Given the description of an element on the screen output the (x, y) to click on. 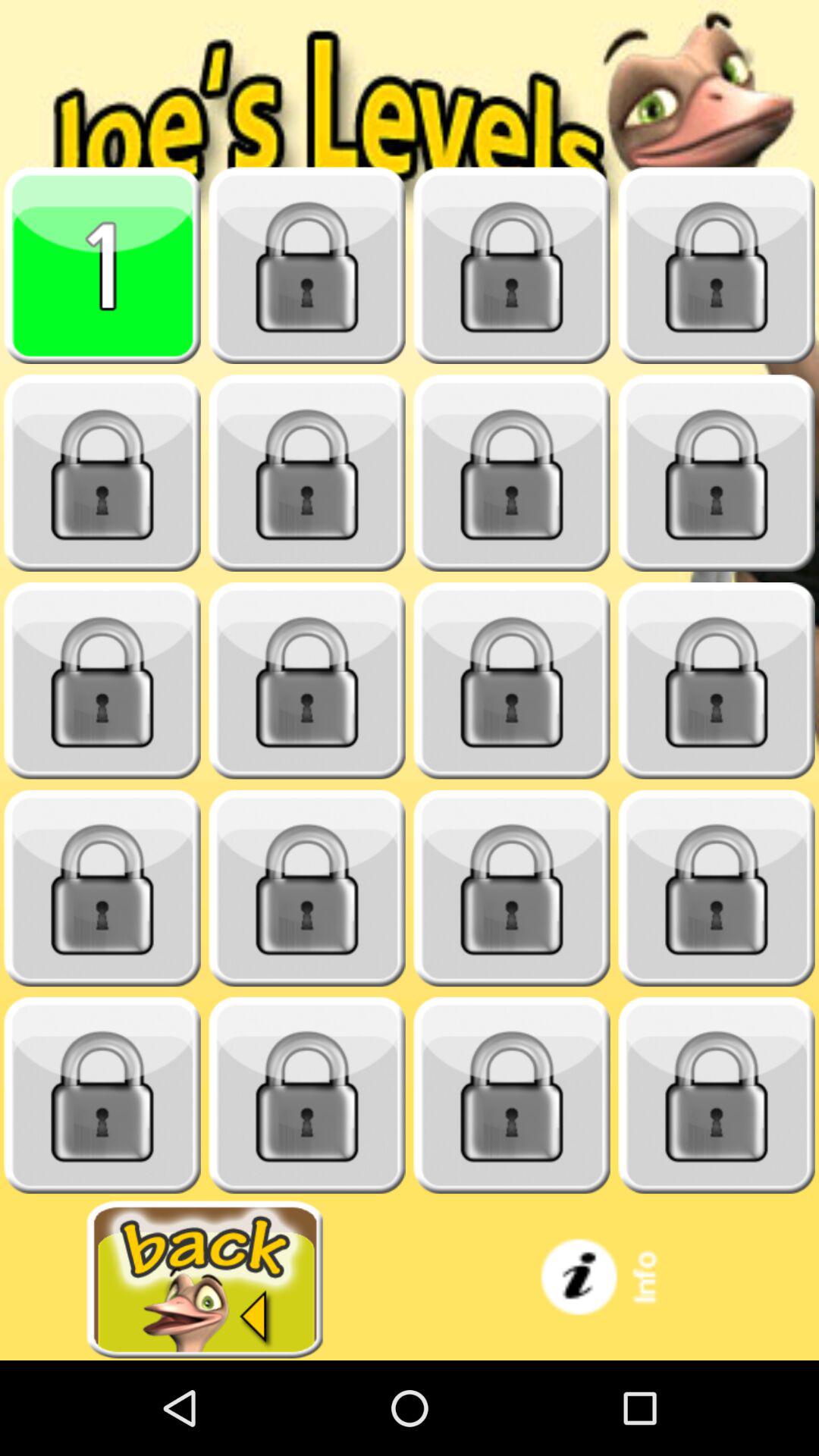
blocked (102, 680)
